Given the description of an element on the screen output the (x, y) to click on. 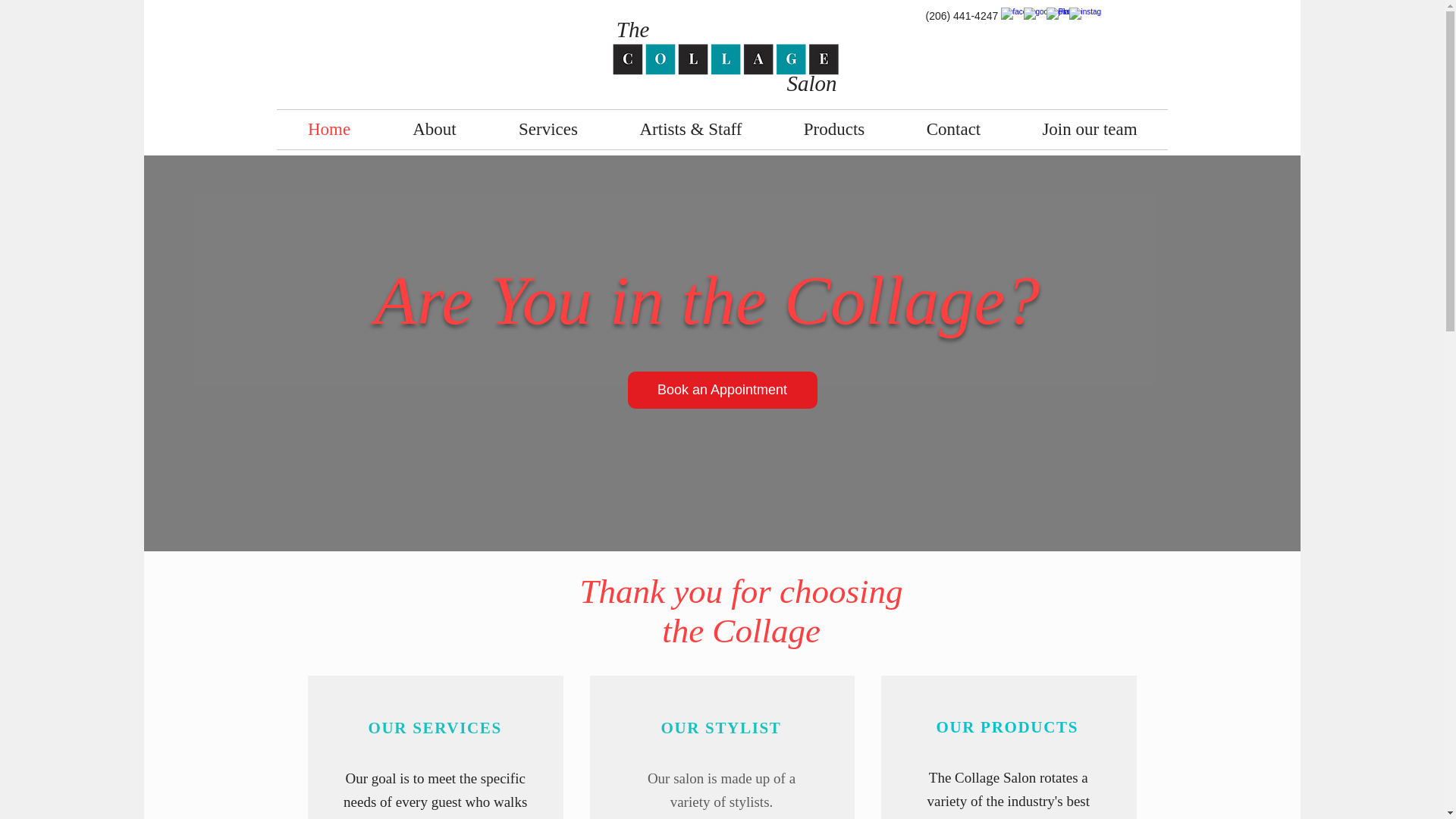
Home (328, 129)
Products (834, 129)
Contact (953, 129)
Services (547, 129)
Join our team (1089, 129)
About (434, 129)
Book an Appointment (721, 389)
